Given the description of an element on the screen output the (x, y) to click on. 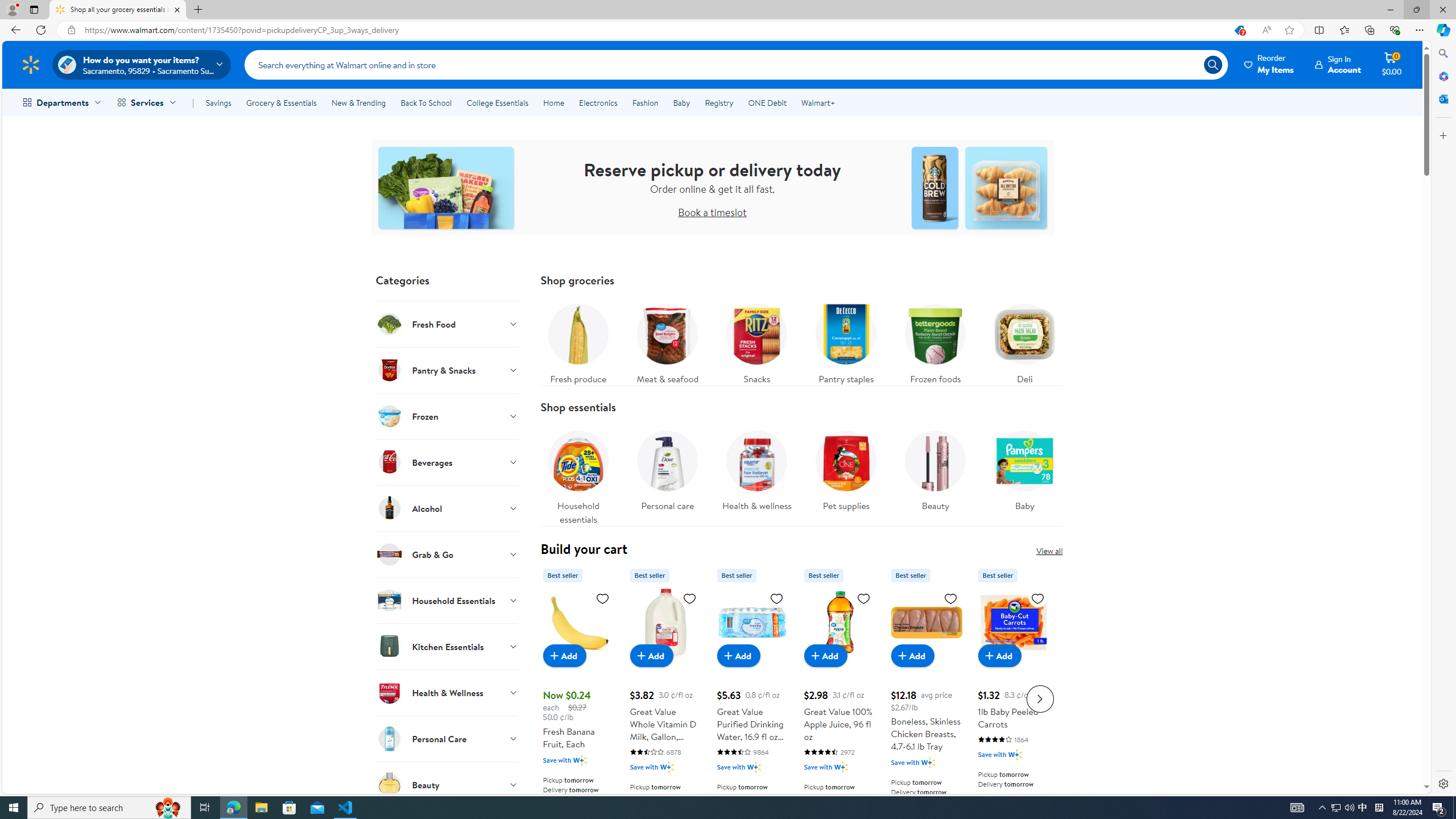
Deli (1024, 340)
ReorderMy Items (1269, 64)
Sign in to add to Favorites list, 1lb Baby Peeled Carrots (1036, 597)
Alcohol (446, 507)
